Given the description of an element on the screen output the (x, y) to click on. 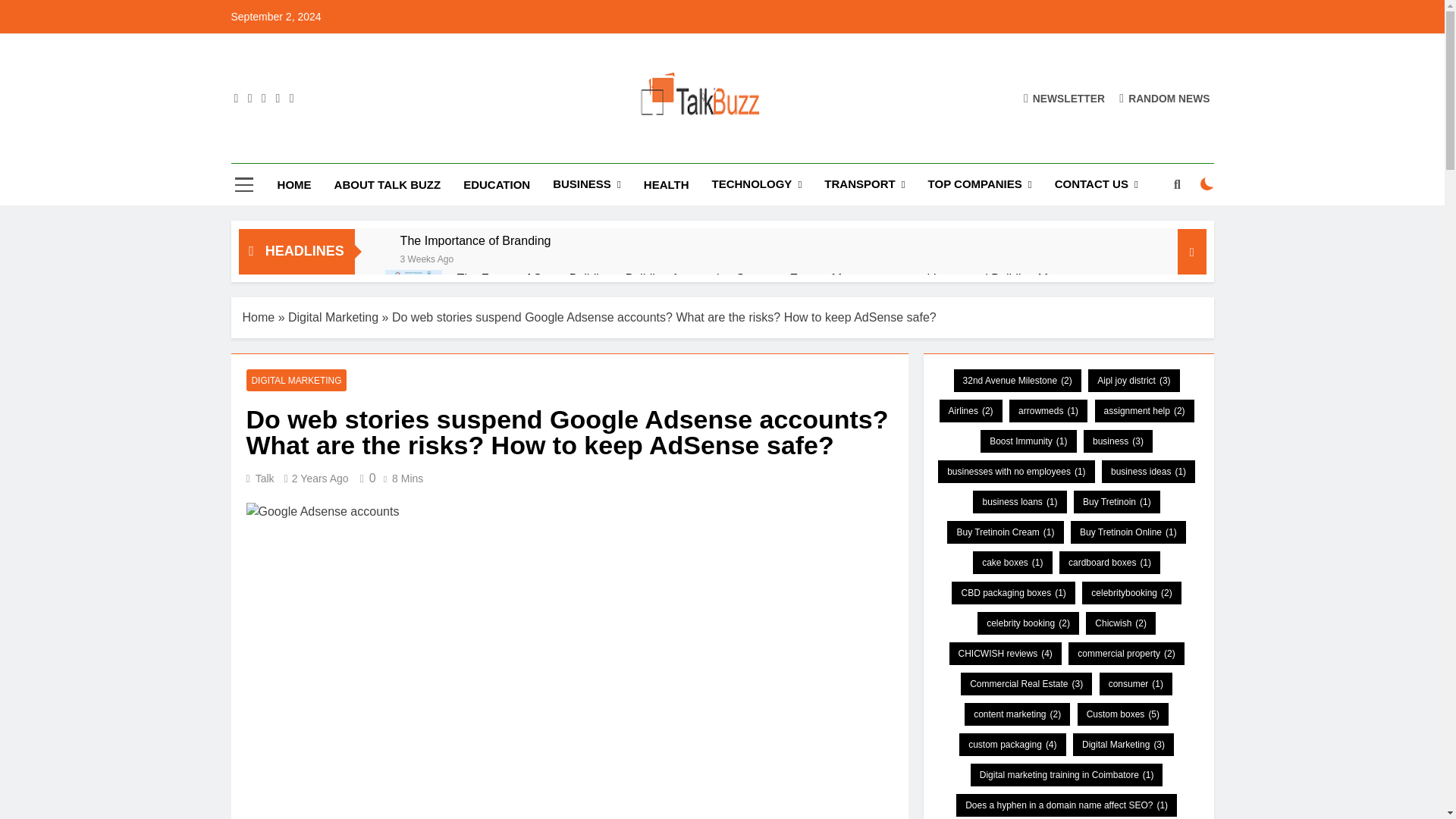
Talk Buzz (503, 149)
on (1206, 183)
RANDOM NEWS (1164, 97)
The Importance of Branding (475, 240)
EDUCATION (496, 184)
HOME (294, 184)
ABOUT TALK BUZZ (387, 184)
BUSINESS (586, 184)
